Given the description of an element on the screen output the (x, y) to click on. 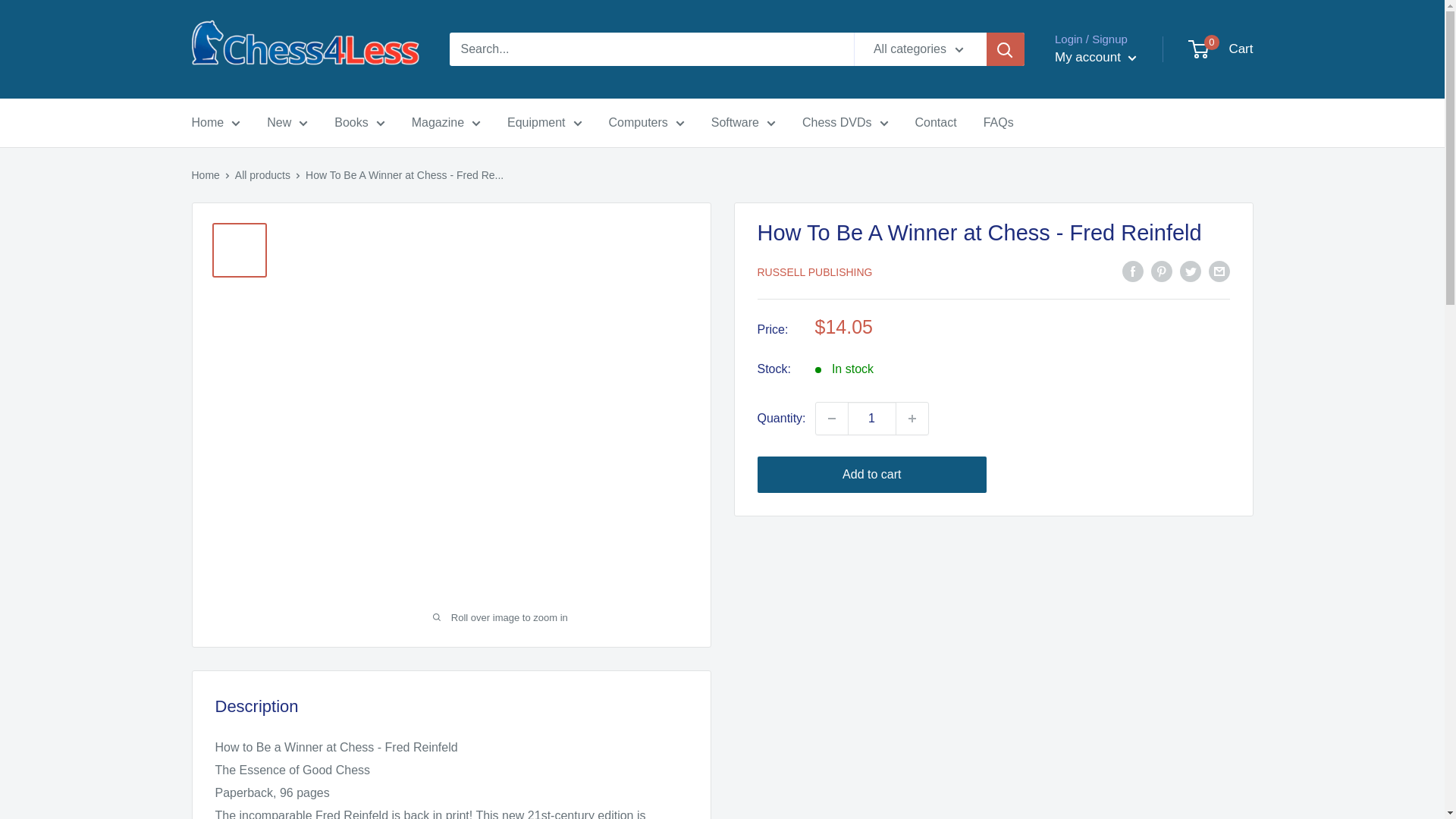
1 (871, 418)
Increase quantity by 1 (912, 418)
Decrease quantity by 1 (831, 418)
